Given the description of an element on the screen output the (x, y) to click on. 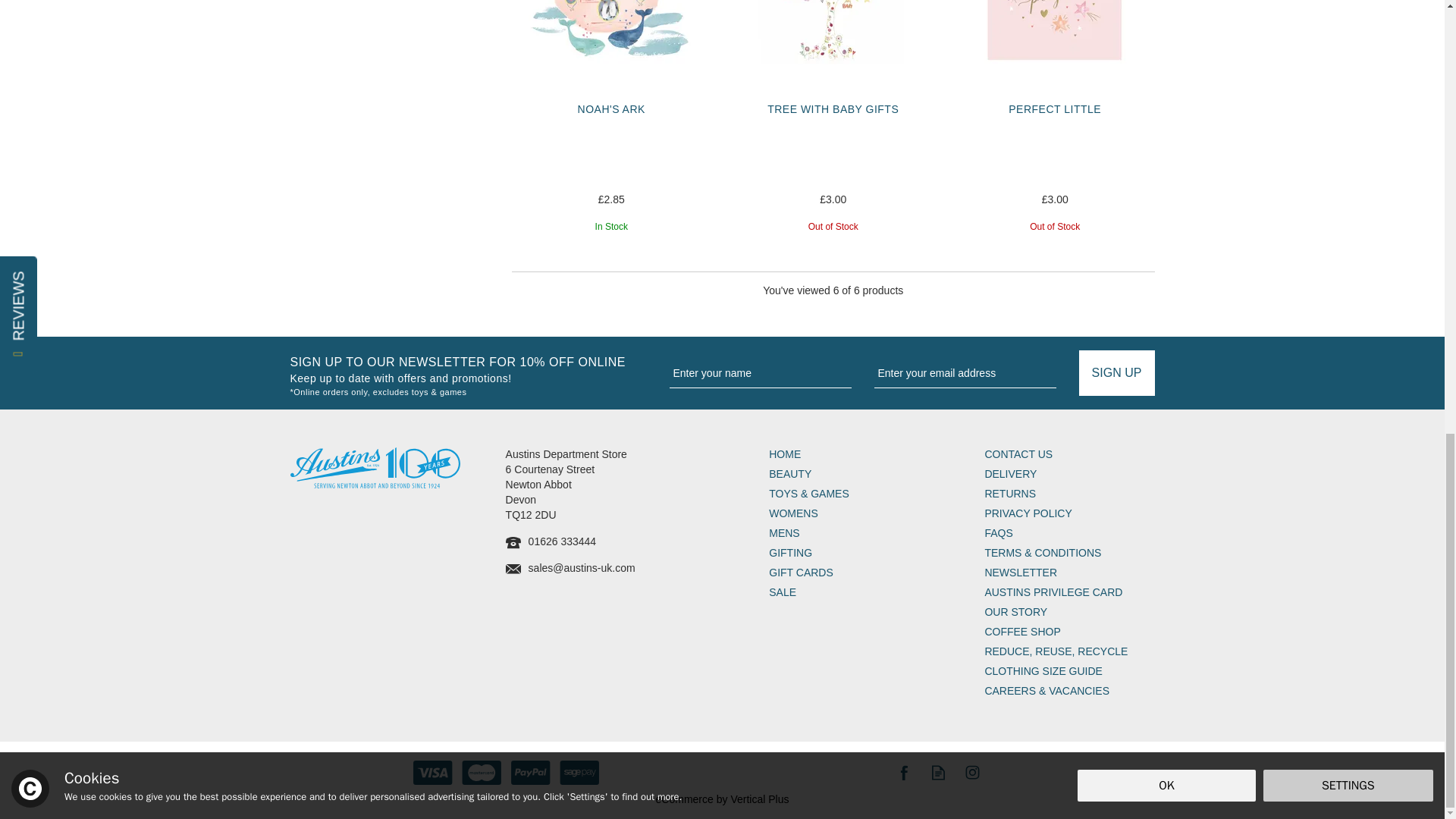
FAQs (1069, 533)
Mens (853, 533)
Newsletter (1069, 572)
Gifting (853, 553)
Home (853, 454)
Coffee Shop (1069, 631)
Austins Privilege Card (1069, 592)
Sale (853, 592)
Womens (853, 513)
Gift Cards (853, 572)
Contact Us (1069, 454)
Privacy Policy (1069, 513)
Reduce, Reuse, Recycle (1069, 652)
Delivery (1069, 474)
Returns (1069, 494)
